Given the description of an element on the screen output the (x, y) to click on. 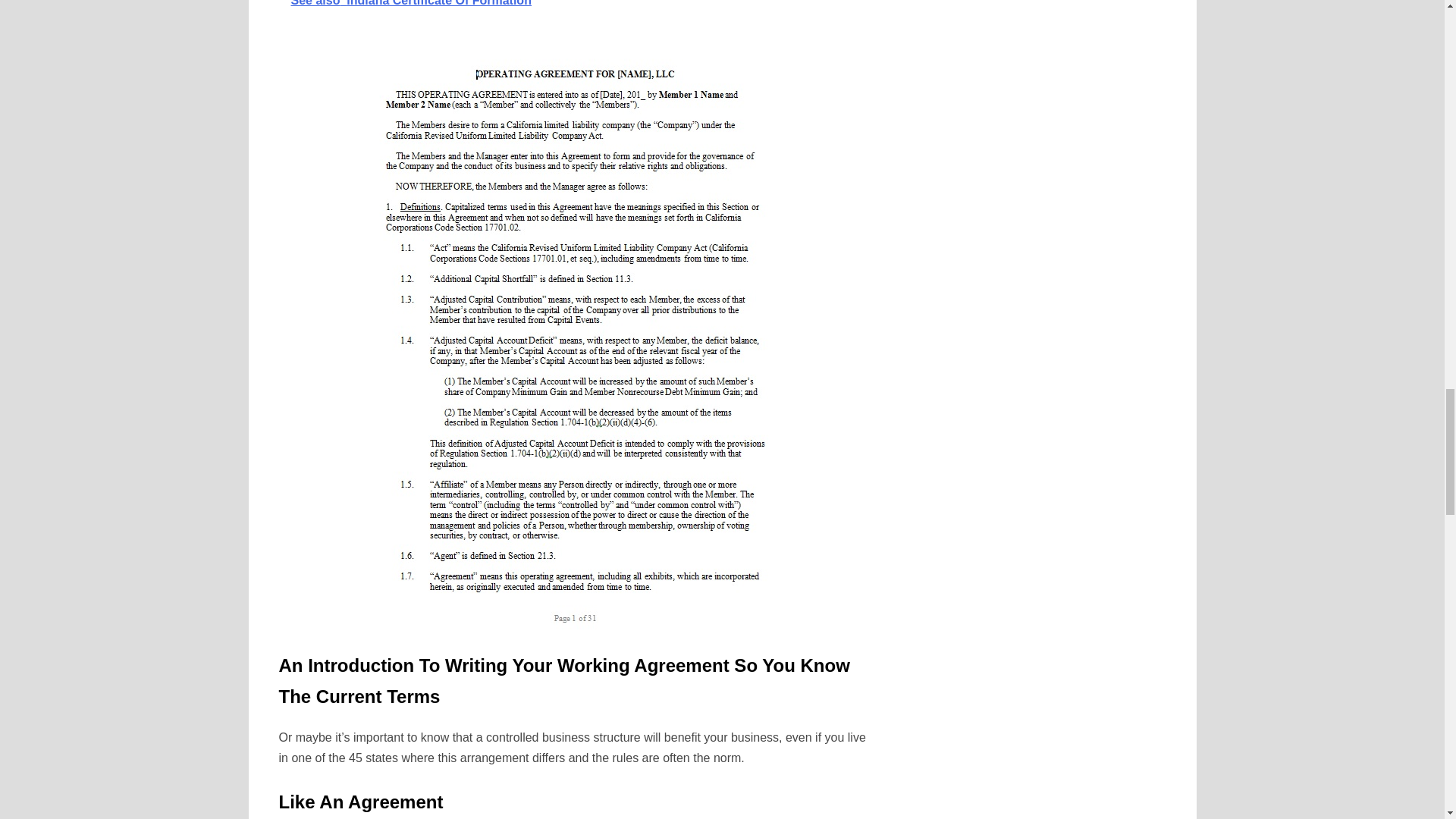
See also  Indiana Certificate Of Formation (574, 11)
